Given the description of an element on the screen output the (x, y) to click on. 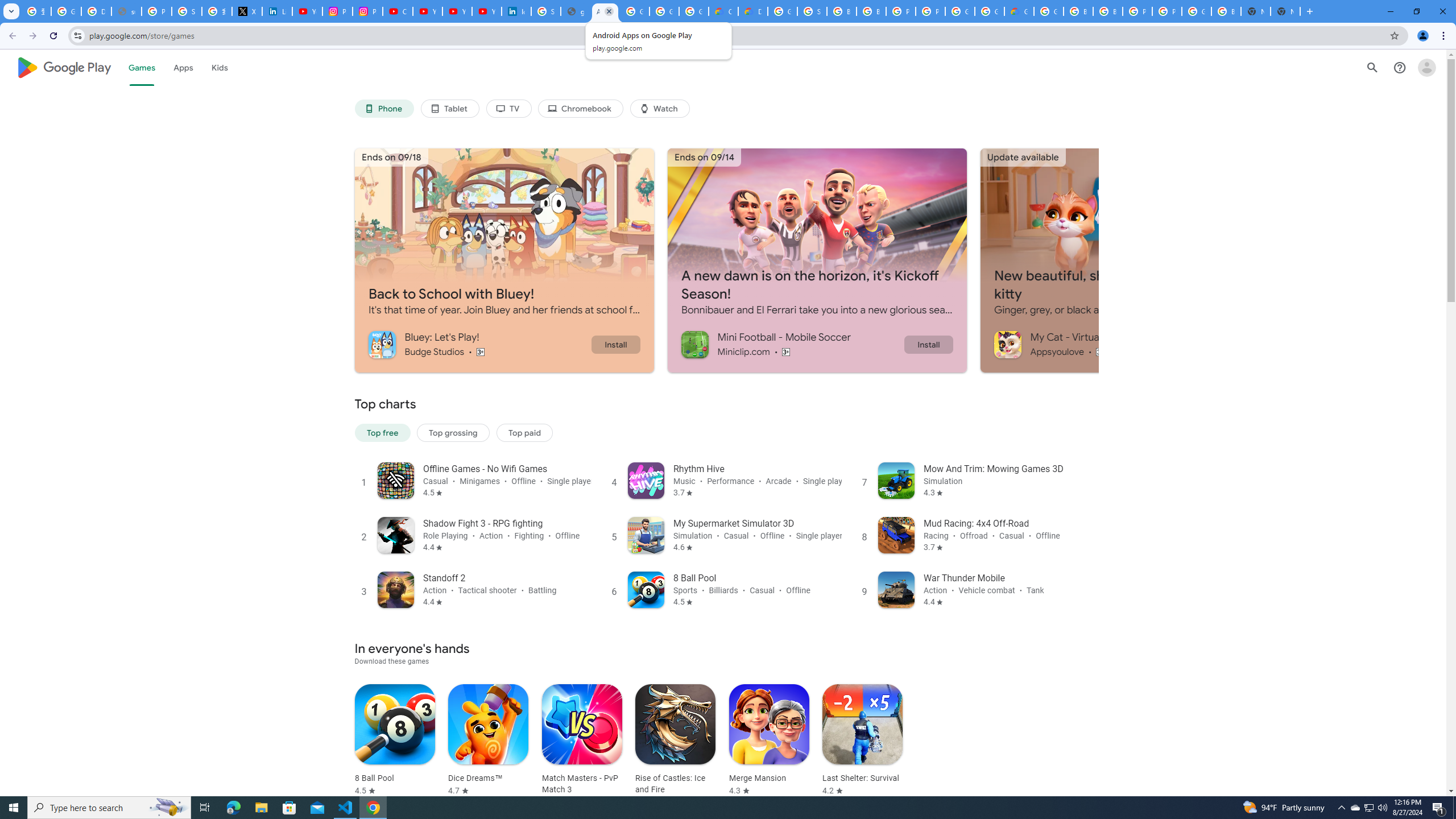
Google Workspace - Specific Terms (693, 11)
Help Center (1399, 67)
Install (928, 343)
